Given the description of an element on the screen output the (x, y) to click on. 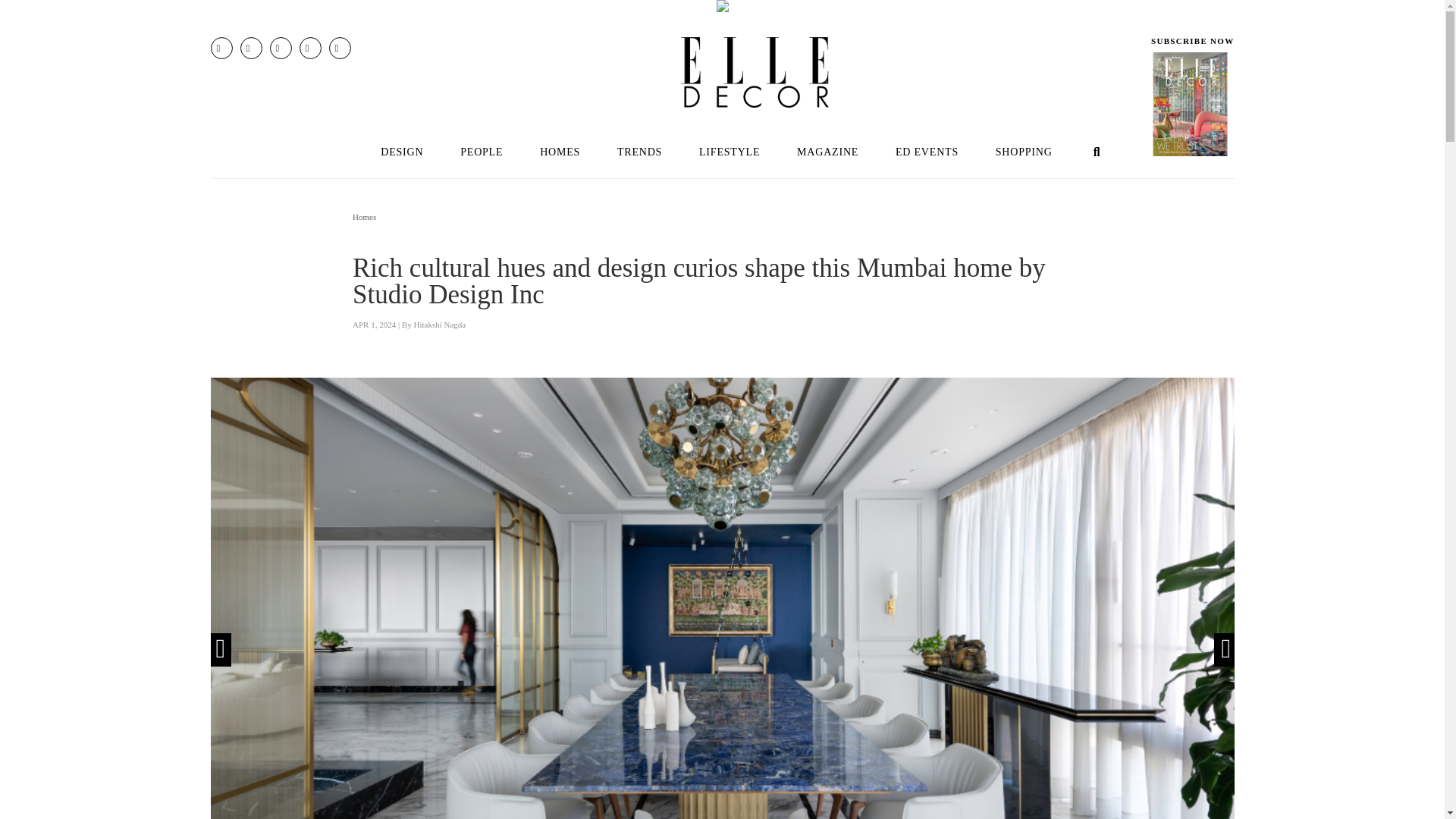
SHOPPING (1023, 151)
DESIGN (401, 151)
PEOPLE (481, 151)
MAGAZINE (827, 151)
ED EVENTS (927, 151)
LIFESTYLE (729, 151)
HOMES (559, 151)
TRENDS (639, 151)
